Given the description of an element on the screen output the (x, y) to click on. 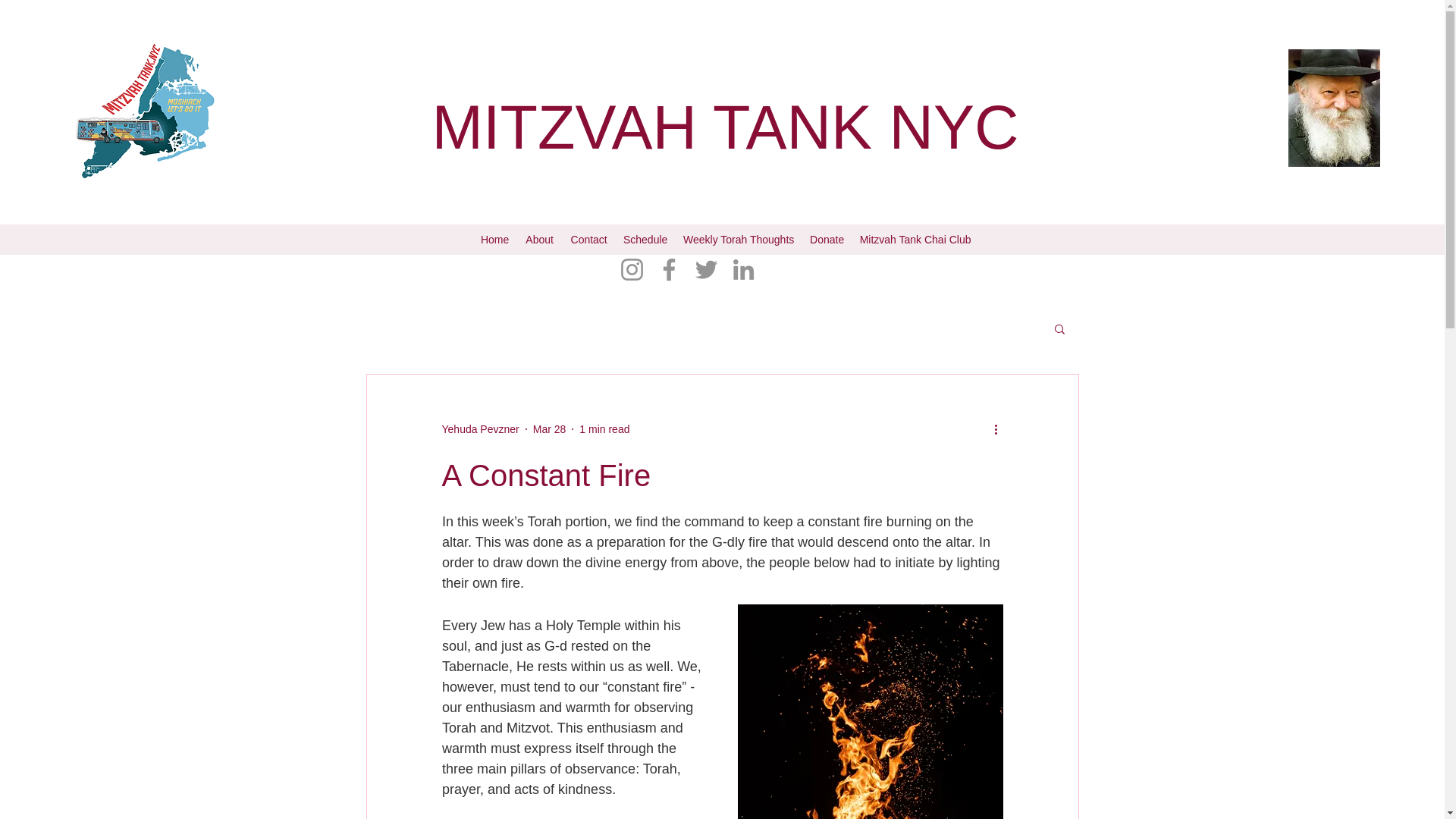
Home (494, 239)
Mitzvah Tank Chai Club (913, 239)
1 min read (603, 428)
Donate (826, 239)
Schedule (645, 239)
Mar 28 (549, 428)
Yehuda Pevzner (479, 429)
Weekly Torah Thoughts (738, 239)
About (539, 239)
Contact (588, 239)
